Given the description of an element on the screen output the (x, y) to click on. 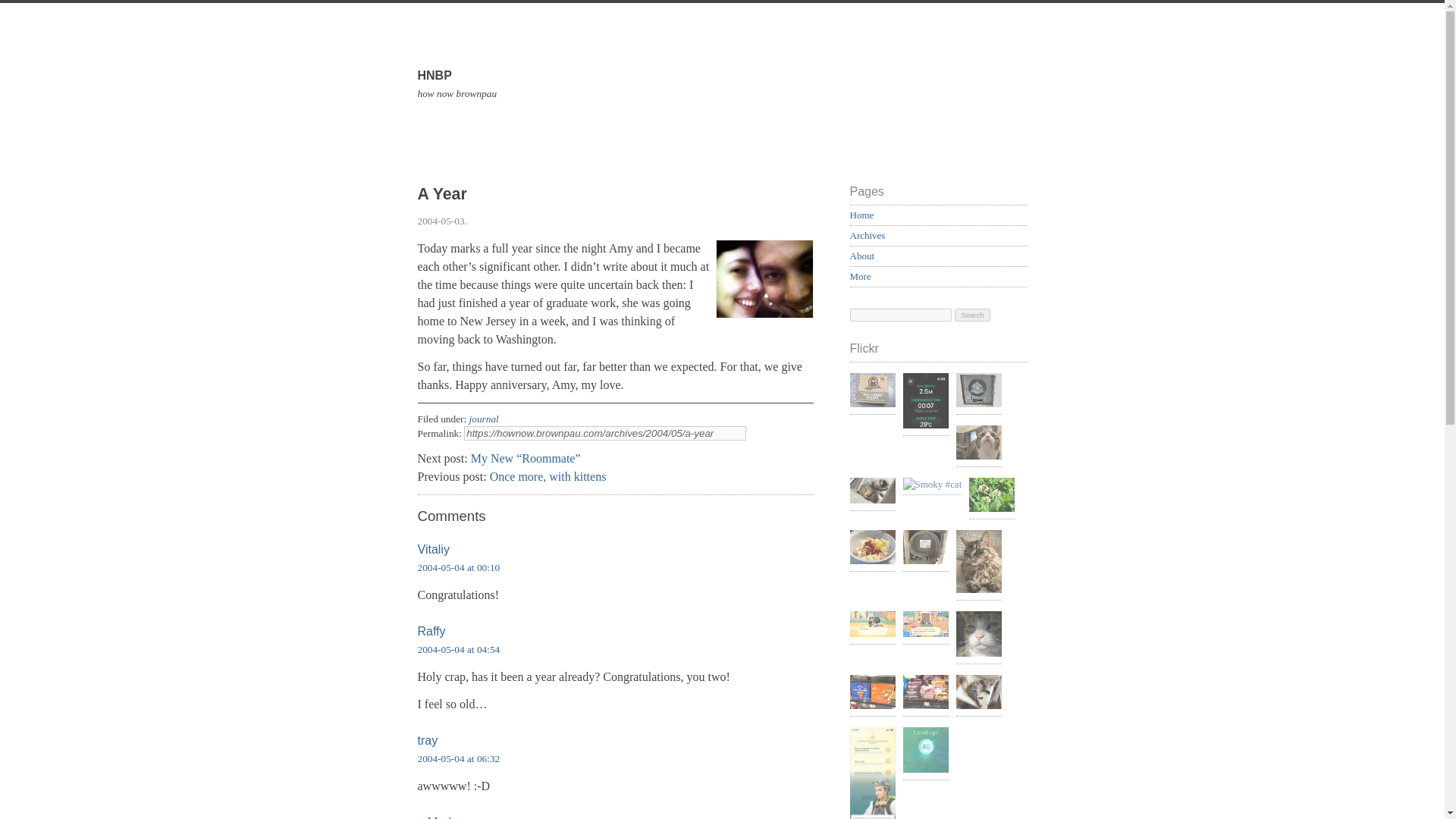
Search (972, 314)
About (861, 255)
2004-05-04 at 00:10 (457, 567)
Archives (866, 235)
tray (427, 739)
2004-05-04 at 06:32 (457, 758)
Stefano and General Assembly frozen pizzas (871, 693)
More (721, 103)
Joe Biden Animal Crossing Dream Island (859, 276)
Home (924, 625)
Dr Squatch Birchwood Breeze (860, 214)
Raffy (871, 392)
:: Mark :: (430, 631)
Once more, with kittens (440, 817)
